Given the description of an element on the screen output the (x, y) to click on. 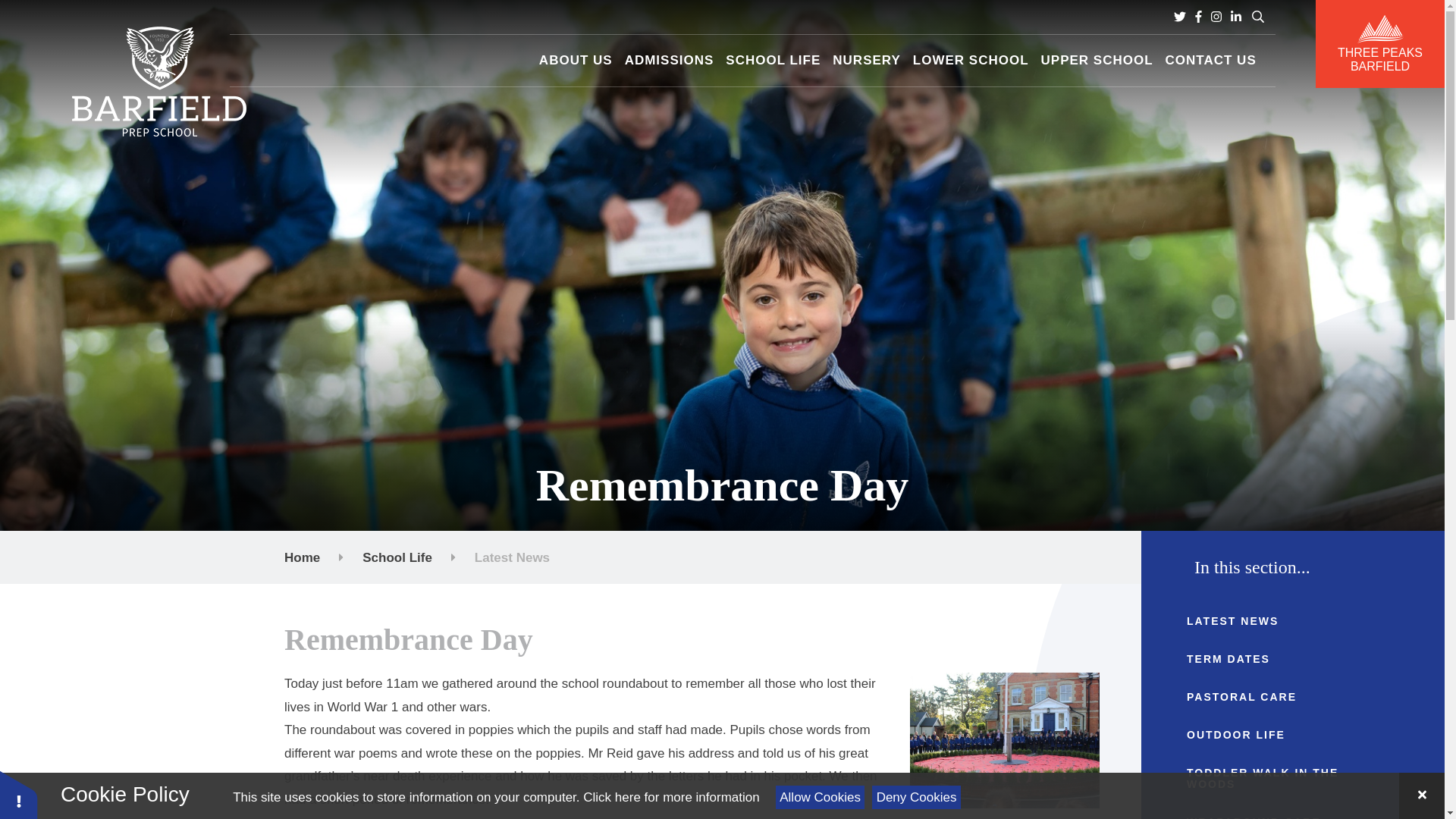
Toggle Search (1258, 17)
ADMISSIONS (669, 60)
Allow Cookies (820, 797)
See cookie policy (670, 797)
SCHOOL LIFE (773, 60)
ABOUT US (575, 60)
Deny Cookies (915, 797)
